Given the description of an element on the screen output the (x, y) to click on. 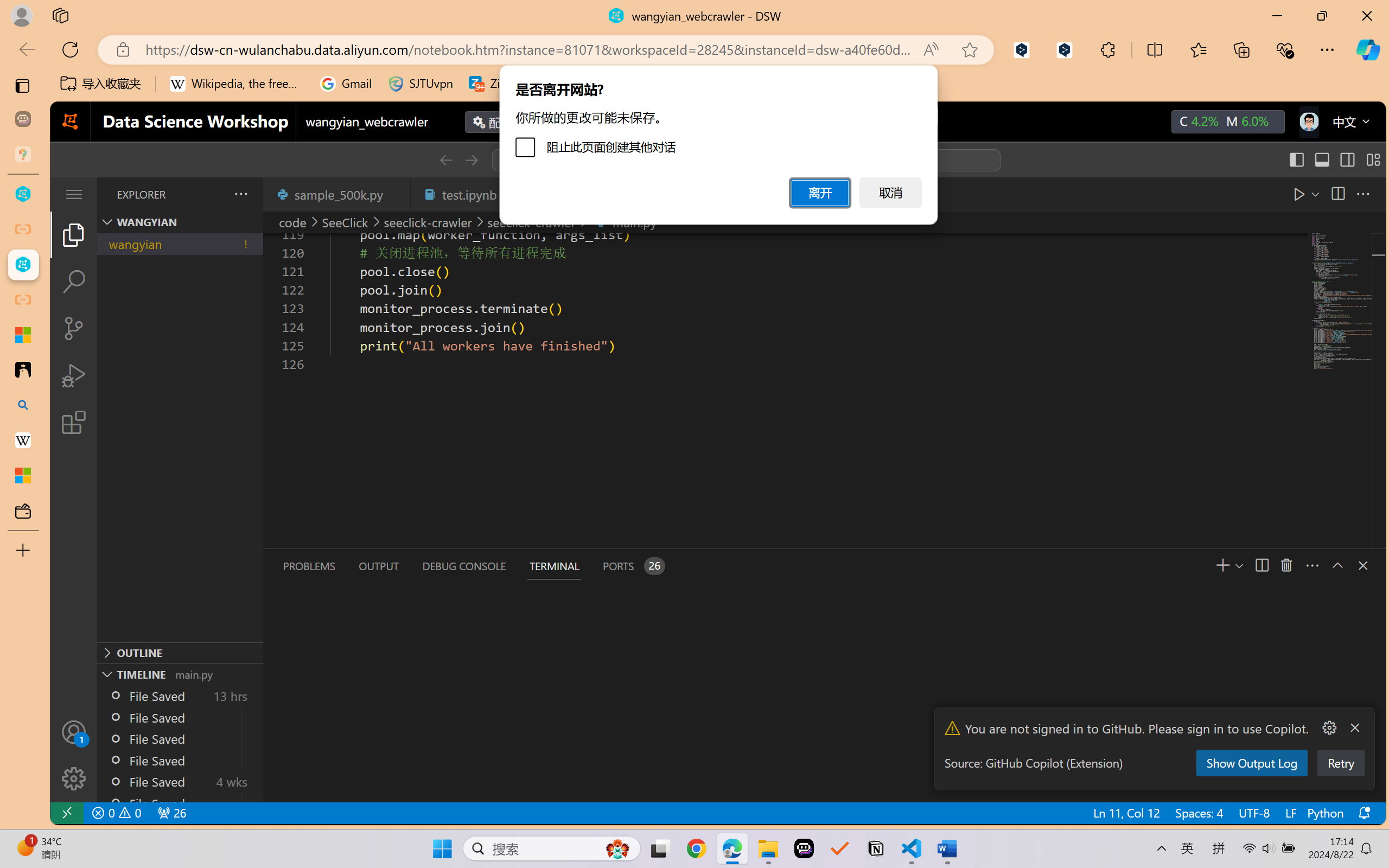
icon (1308, 119)
Tab actions (395, 194)
Wikipedia, the free encyclopedia (236, 83)
Manage (73, 755)
More Actions... (1328, 727)
Manage (73, 778)
Gmail (345, 83)
Ports - 26 forwarded ports (632, 565)
Customize Layout... (1372, 159)
Spaces: 4 (1198, 812)
